Given the description of an element on the screen output the (x, y) to click on. 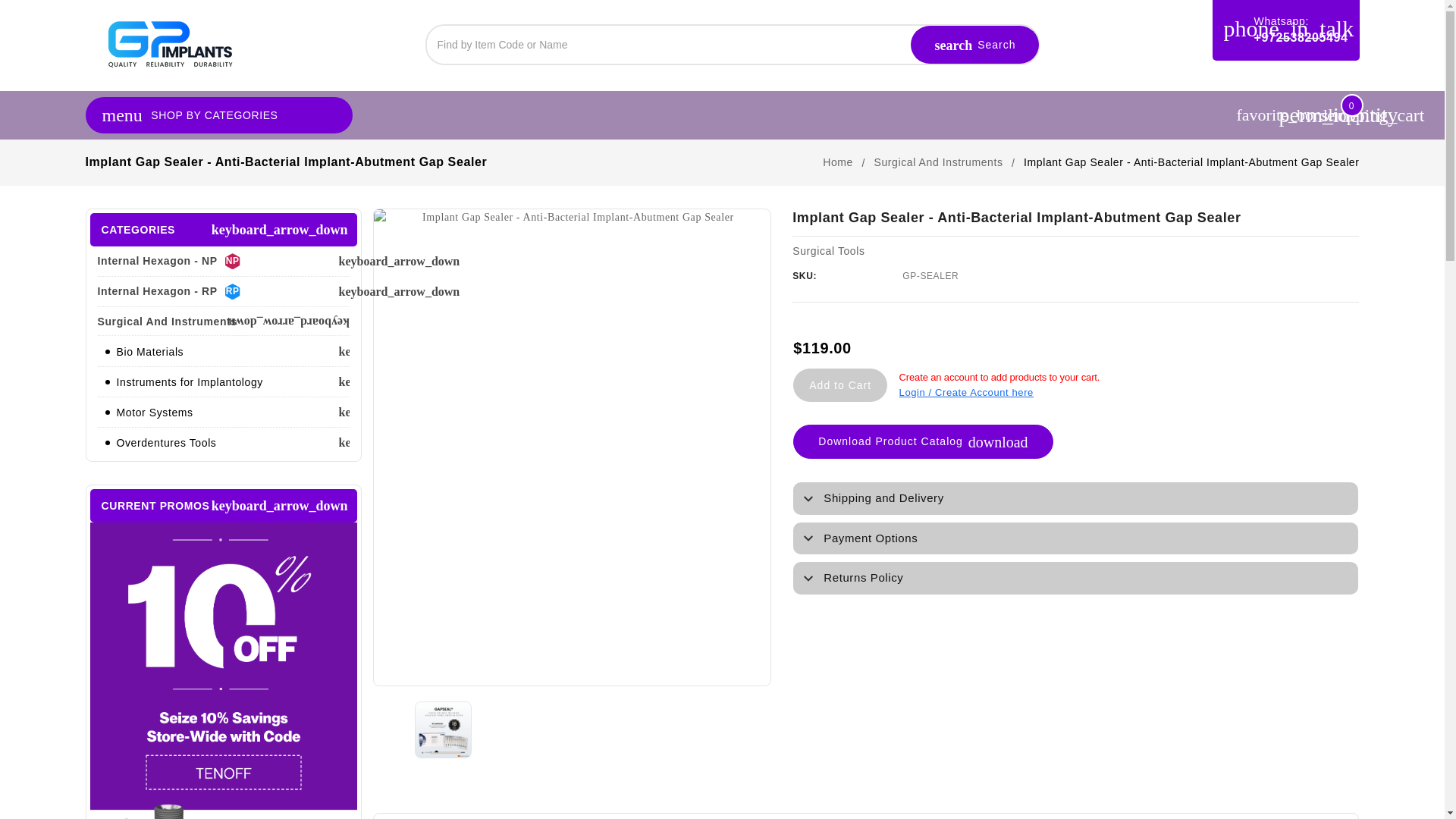
Add to Cart (839, 385)
Wish Lists (1257, 114)
Cart (1339, 114)
Submit Search (975, 44)
My Account (1299, 114)
GP Implant LTD (167, 43)
search Search (975, 44)
